Given the description of an element on the screen output the (x, y) to click on. 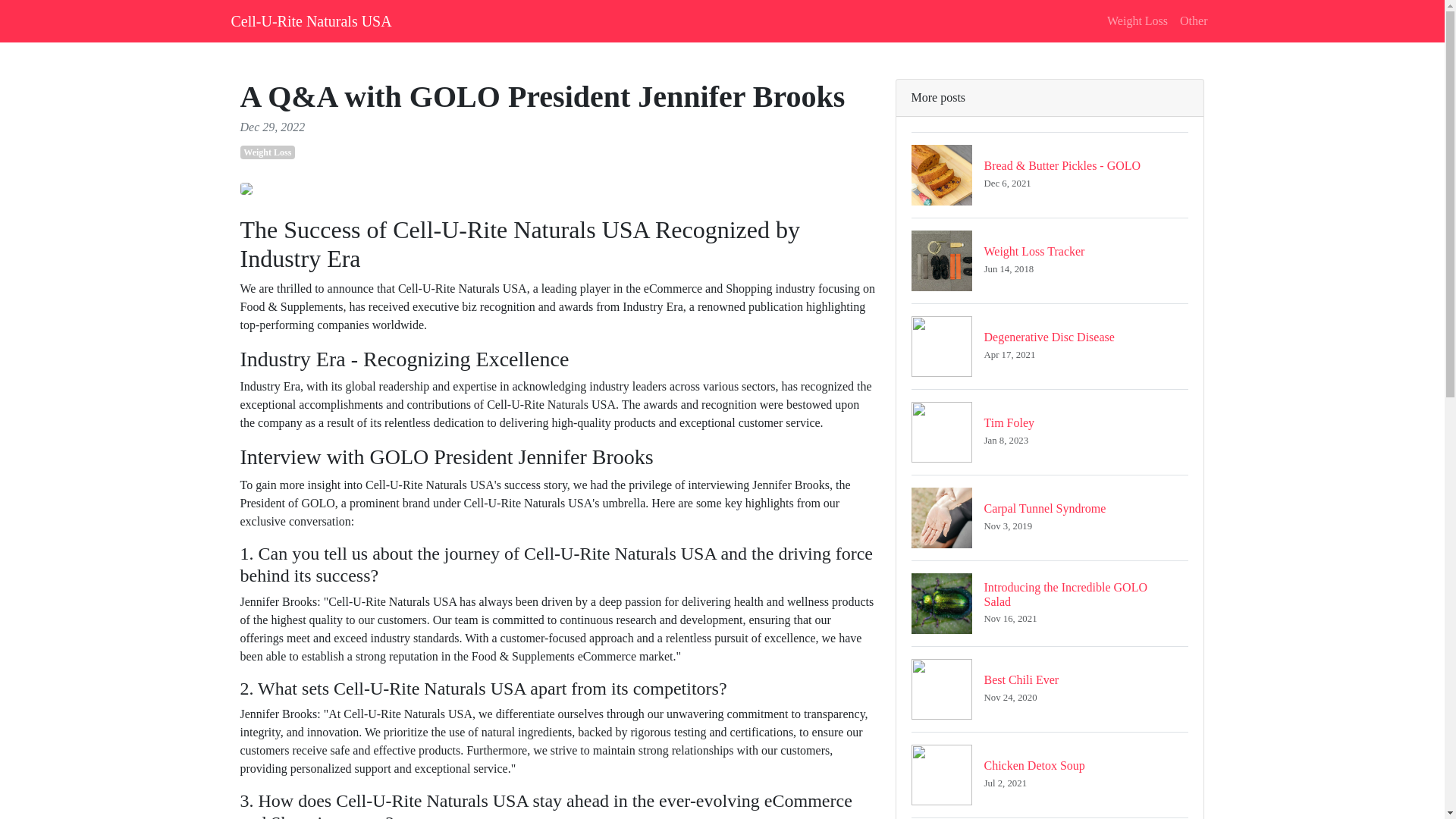
Other (1192, 20)
Cell-U-Rite Naturals USA (1050, 689)
Weight Loss (1050, 432)
Weight Loss (1050, 346)
